Given the description of an element on the screen output the (x, y) to click on. 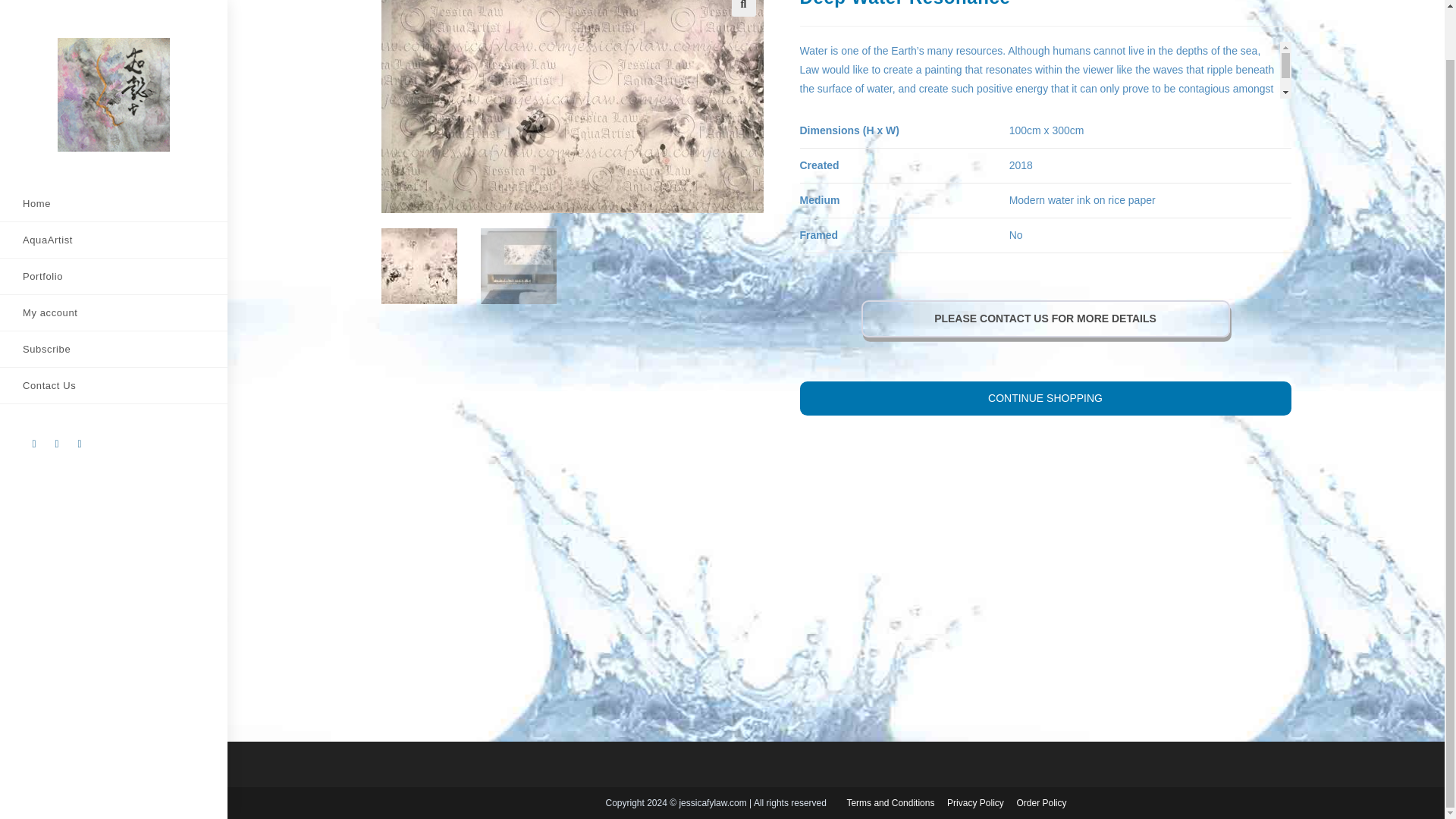
Terms and Conditions (889, 802)
Privacy Policy (975, 802)
Home (113, 150)
Subscribe (113, 295)
CONTINUE SHOPPING (1044, 398)
Order Policy (1040, 802)
Portfolio (113, 222)
Contact Us (113, 332)
AquaArtist (113, 186)
My account (113, 259)
Deep-Water Resonance (607, 106)
